Given the description of an element on the screen output the (x, y) to click on. 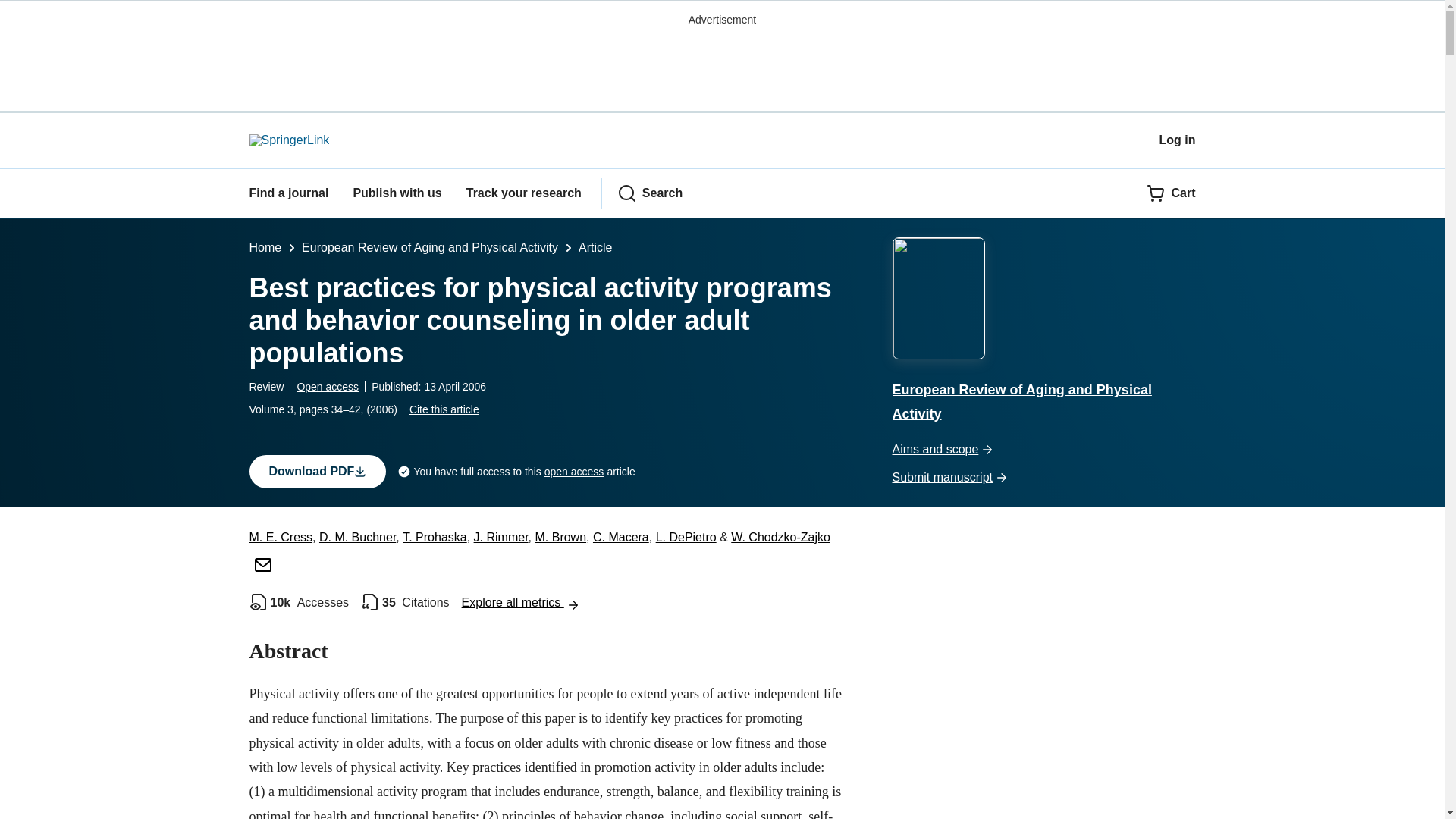
open access (574, 471)
Cart (1170, 192)
Home (264, 246)
C. Macera (620, 536)
European Review of Aging and Physical Activity (429, 246)
Explore all metrics (520, 602)
Log in (1177, 139)
Track your research (524, 192)
W. Chodzko-Zajko (538, 549)
D. M. Buchner (357, 536)
Open access (327, 386)
M. Brown (560, 536)
Submit manuscript (1043, 477)
Publish with us (396, 192)
Cite this article (444, 409)
